Given the description of an element on the screen output the (x, y) to click on. 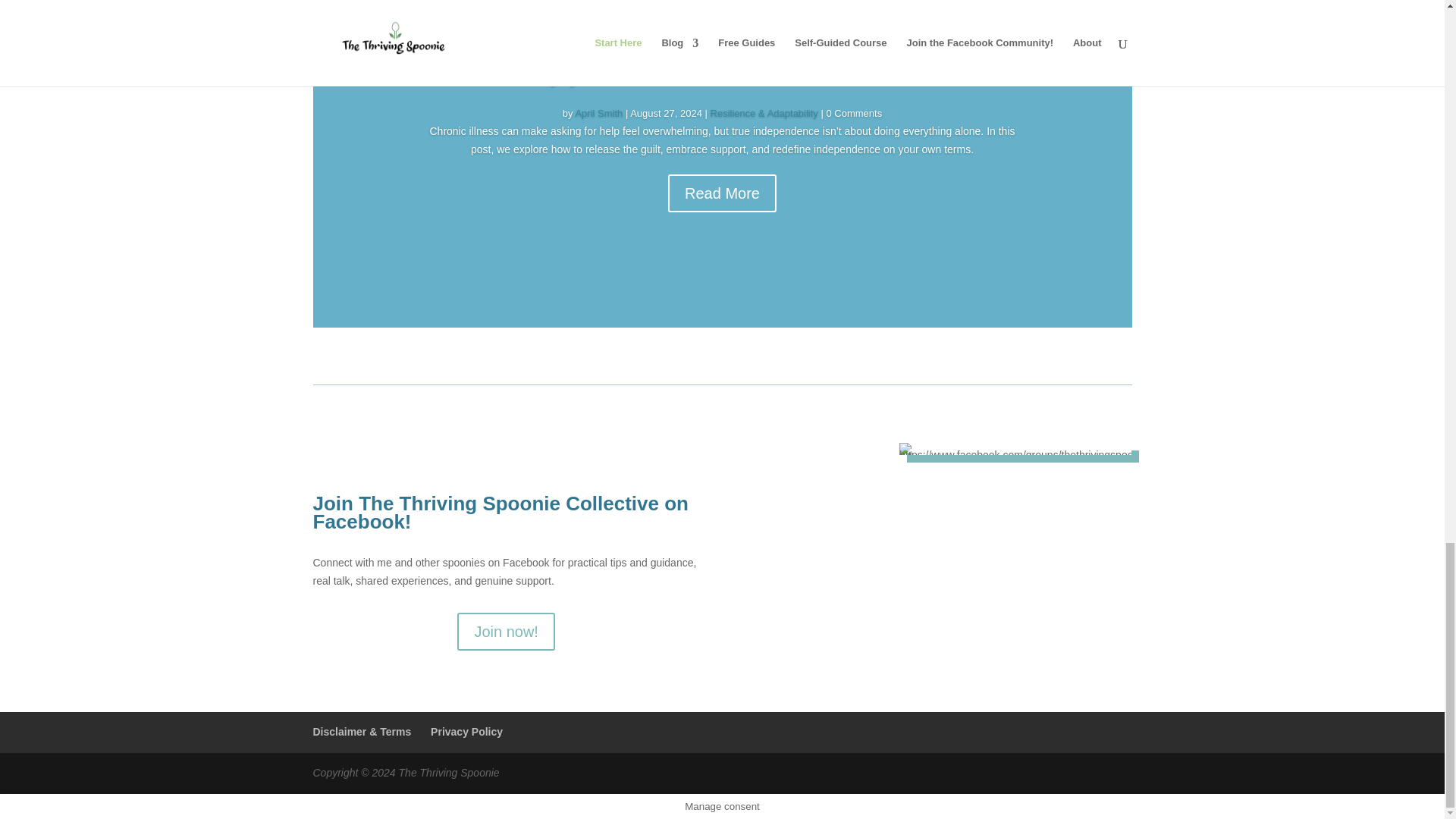
Privacy Policy (466, 731)
Posts by April Smith (599, 112)
Read More (722, 193)
April Smith (599, 112)
Join now! (505, 631)
